Given the description of an element on the screen output the (x, y) to click on. 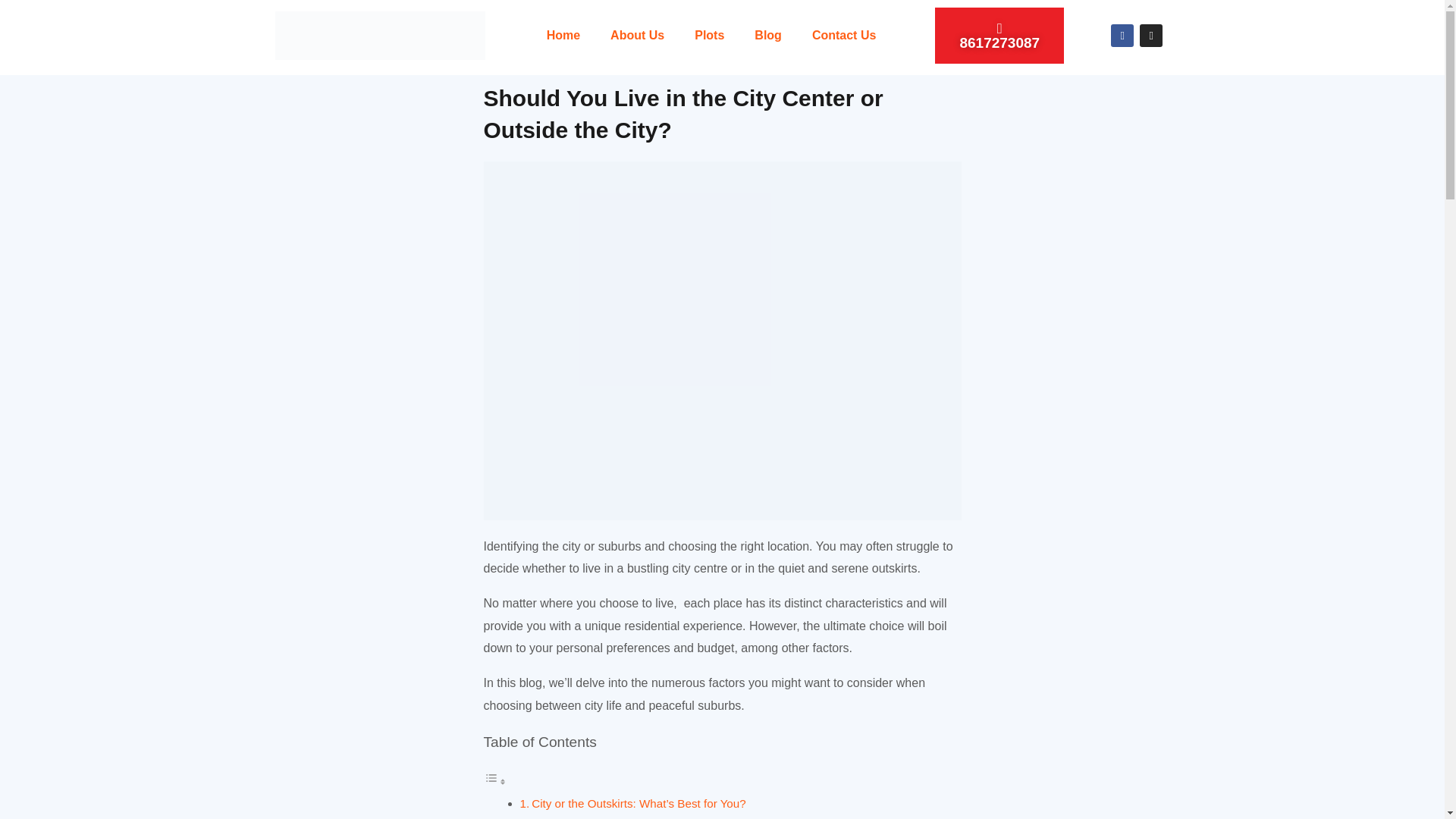
Blog (767, 35)
8617273087 (999, 35)
Instagram (1150, 35)
Facebook (1122, 35)
About Us (637, 35)
Plots (709, 35)
Home (563, 35)
Contact Us (843, 35)
